Given the description of an element on the screen output the (x, y) to click on. 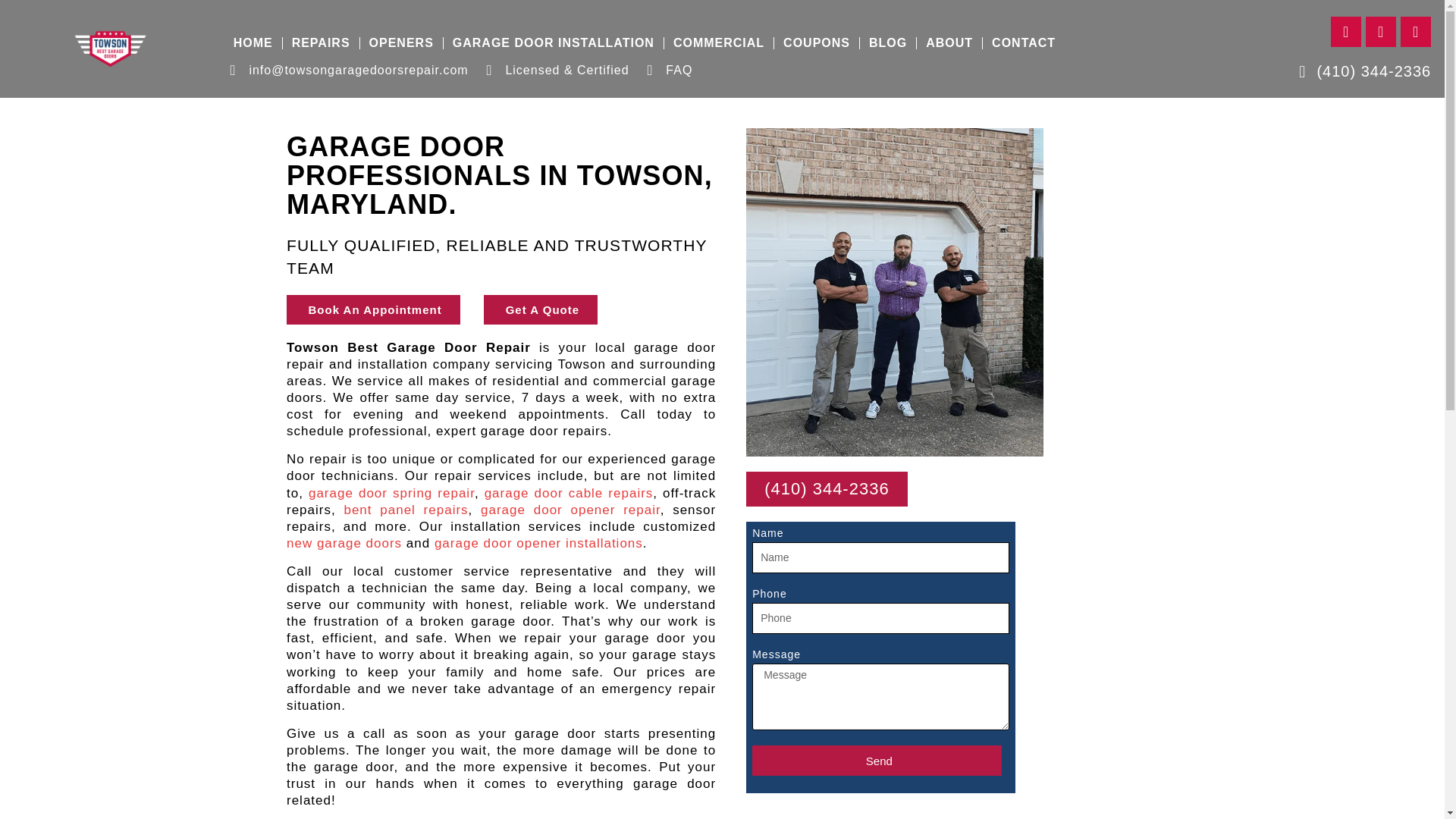
garage door opener installations (538, 543)
OPENERS (400, 42)
CONTACT (1023, 42)
COUPONS (816, 42)
garage door opener repair (570, 509)
BLOG (887, 42)
REPAIRS (320, 42)
COMMERCIAL (718, 42)
garage door cable repairs (568, 493)
bent panel repairs (405, 509)
ABOUT (949, 42)
HOME (253, 42)
Book An Appointment (373, 309)
new garage doors (343, 543)
garage door spring repair (391, 493)
